Given the description of an element on the screen output the (x, y) to click on. 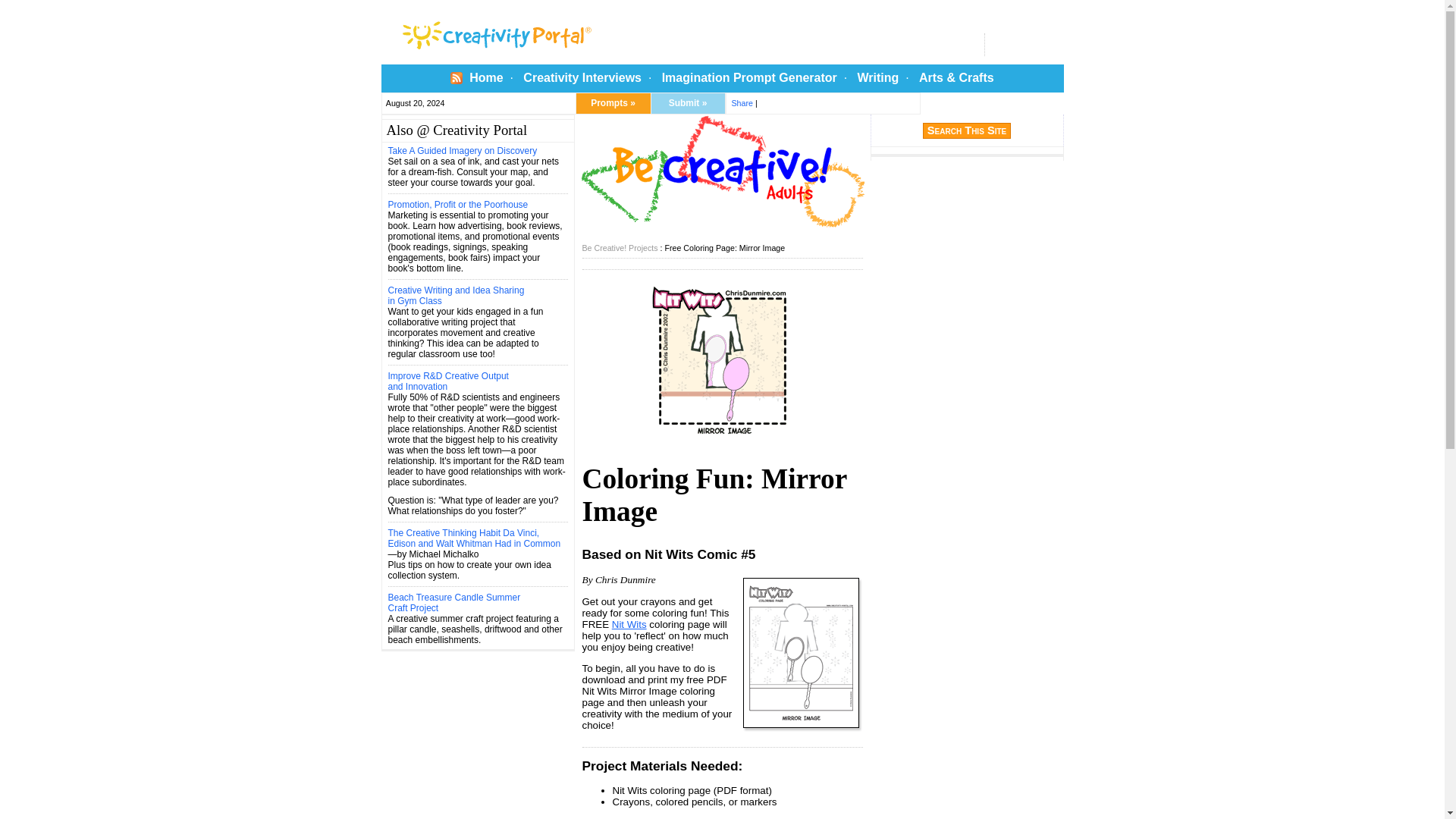
Creative Writing and Idea Sharing in Gym Class (456, 295)
Writing (877, 77)
Beach Treasure Candle Summer Craft Project (454, 602)
Home (485, 77)
Creativity Portal (551, 32)
Promotion, Profit or the Poorhouse (458, 204)
Creativity Interviews (582, 77)
Take A Guided Imagery on Discovery (462, 150)
Nit Wits (628, 624)
